Given the description of an element on the screen output the (x, y) to click on. 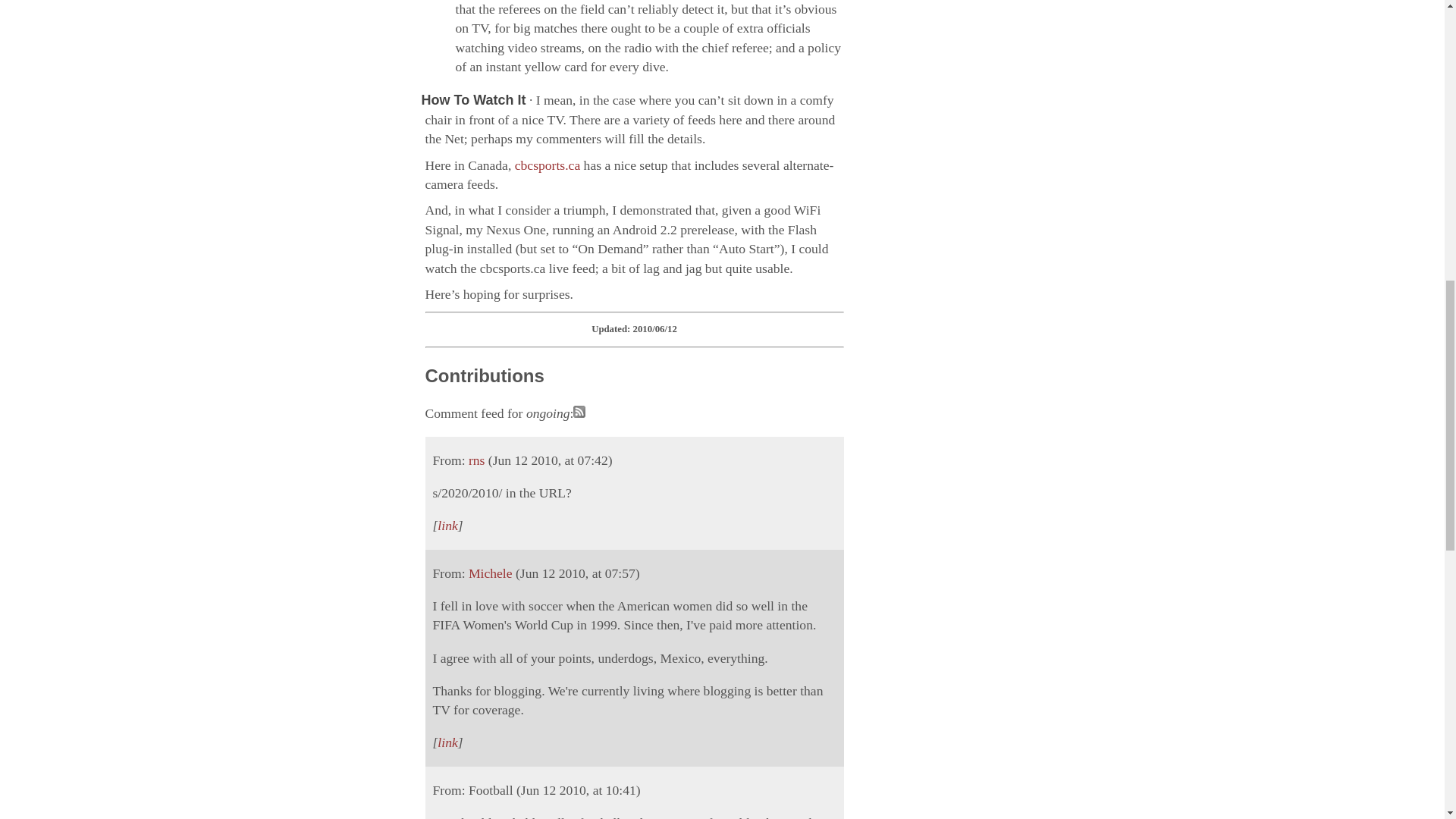
Michele (490, 572)
cbcsports.ca (547, 165)
rns (476, 459)
link (447, 742)
link (447, 525)
